Given the description of an element on the screen output the (x, y) to click on. 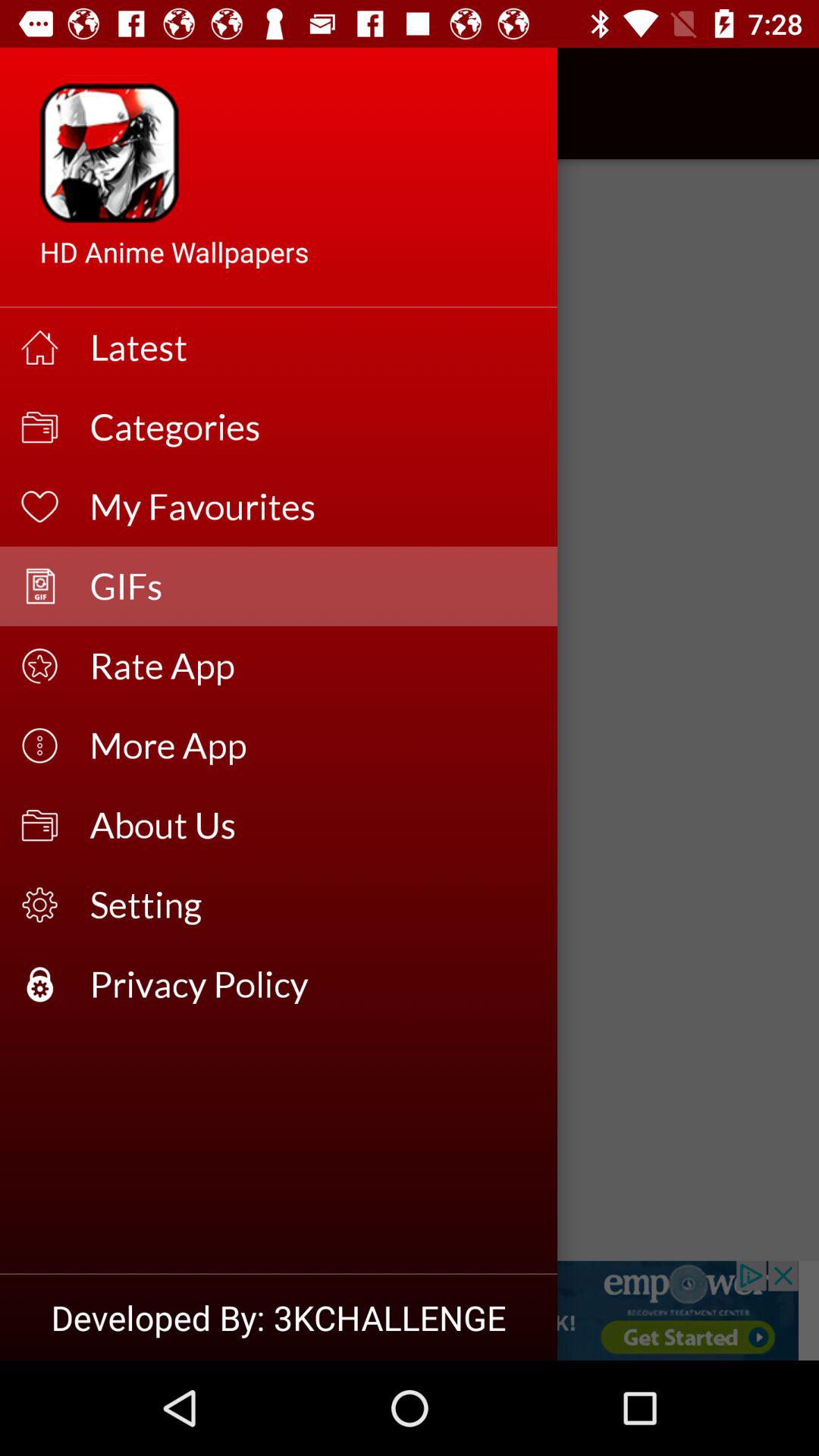
open advertisement (409, 1310)
